Given the description of an element on the screen output the (x, y) to click on. 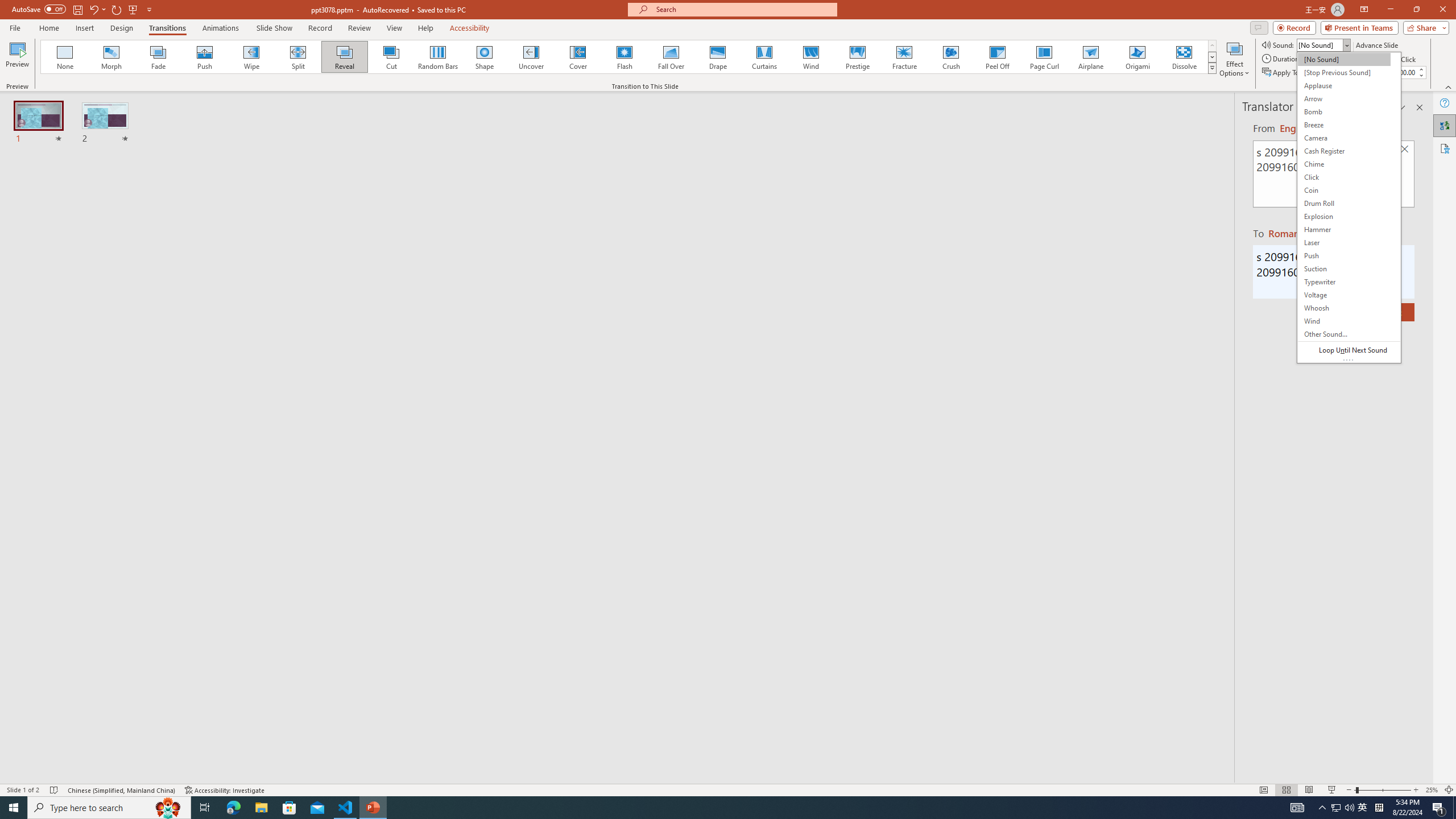
Sound: (1348, 207)
Effect Options (1234, 58)
Zoom 25% (1431, 790)
Fade (158, 56)
Peel Off (997, 56)
Dissolve (1183, 56)
